Given the description of an element on the screen output the (x, y) to click on. 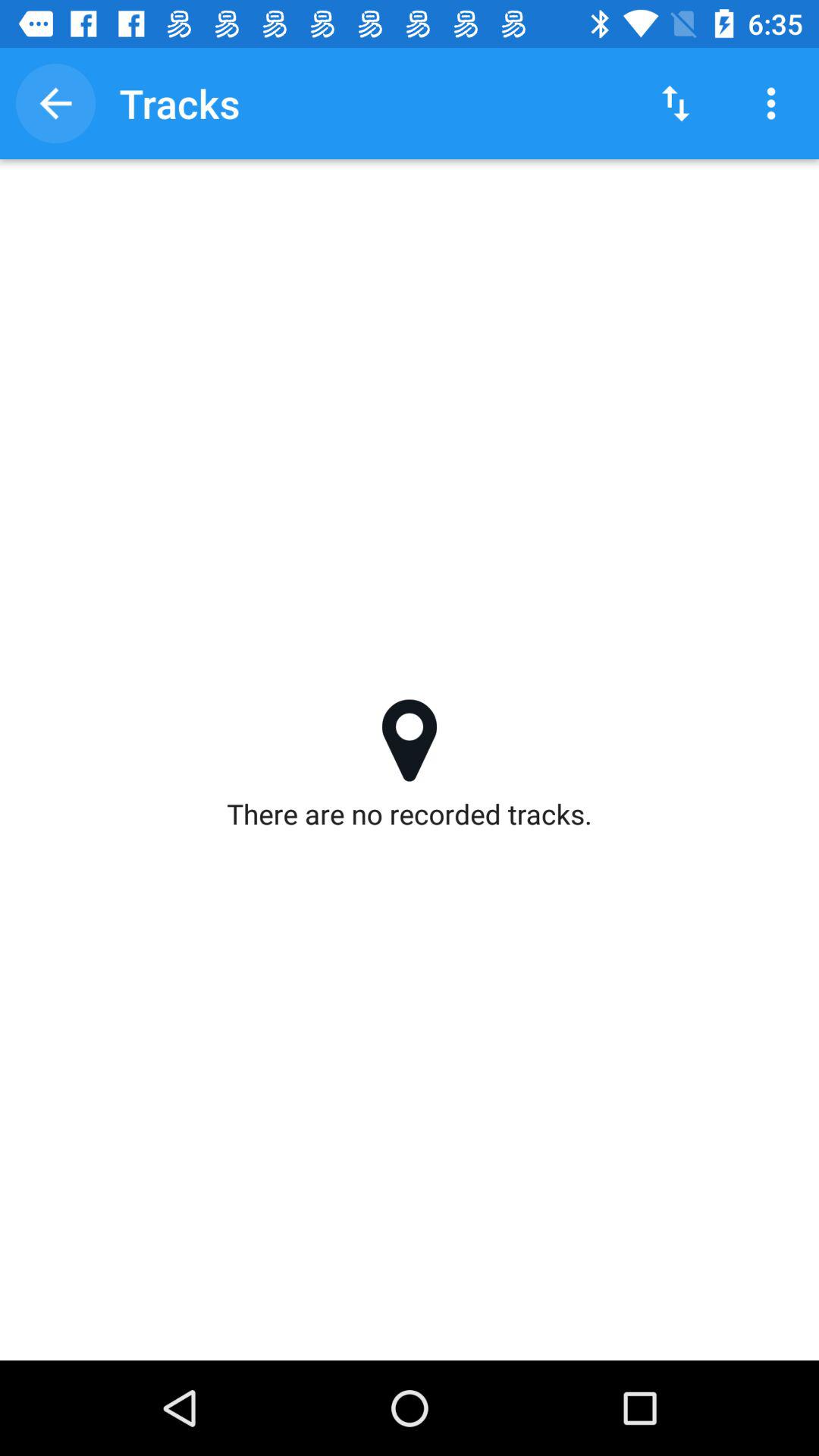
click the item next to tracks item (675, 103)
